Given the description of an element on the screen output the (x, y) to click on. 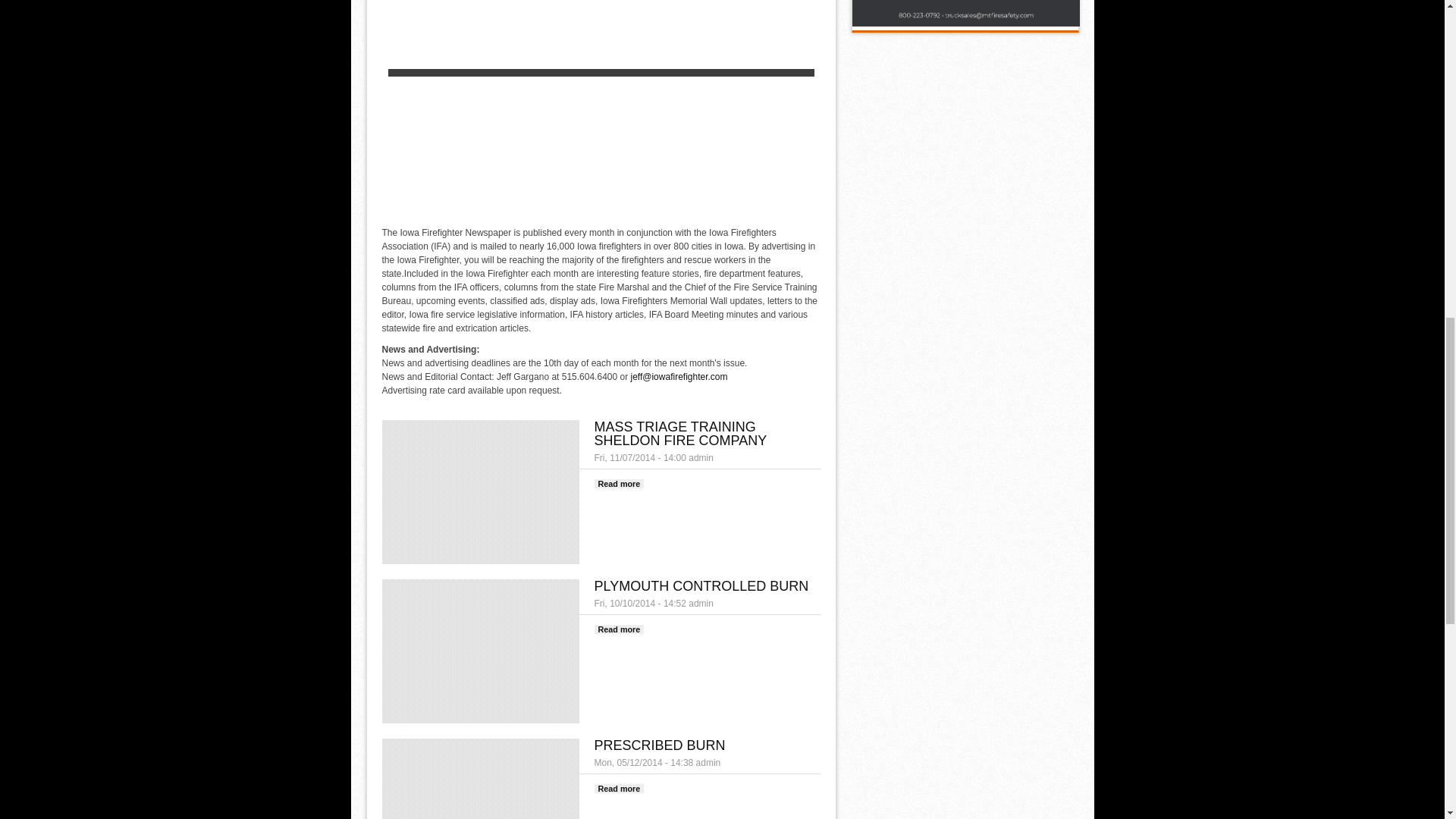
Mass Triage Training Sheldon Fire Company  (619, 483)
PRESCRIBED BURN (659, 744)
Prescribed burn (619, 788)
Plymouth controlled burn (619, 628)
PLYMOUTH CONTROLLED BURN (619, 628)
MASS TRIAGE TRAINING SHELDON FIRE COMPANY (619, 788)
